Given the description of an element on the screen output the (x, y) to click on. 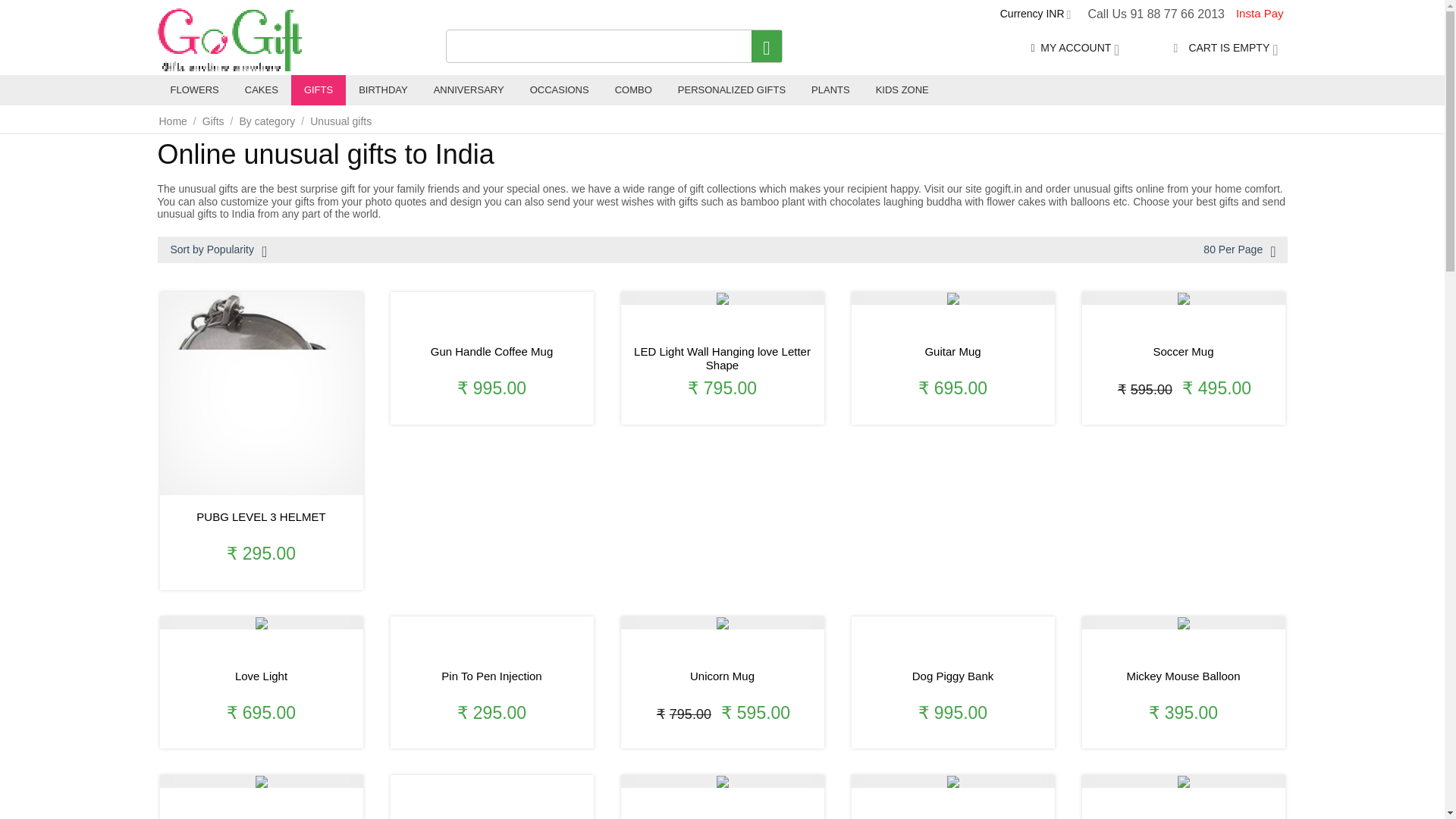
Guitar Mug (952, 358)
Gun Handle Coffee Mug (491, 358)
Search (766, 46)
Soccer Mug (1182, 358)
FLOWERS (194, 90)
Love Light (261, 682)
Guitar Mug (952, 298)
Love Light (260, 623)
Insta Pay (1259, 13)
Soccer Mug (1182, 298)
